Given the description of an element on the screen output the (x, y) to click on. 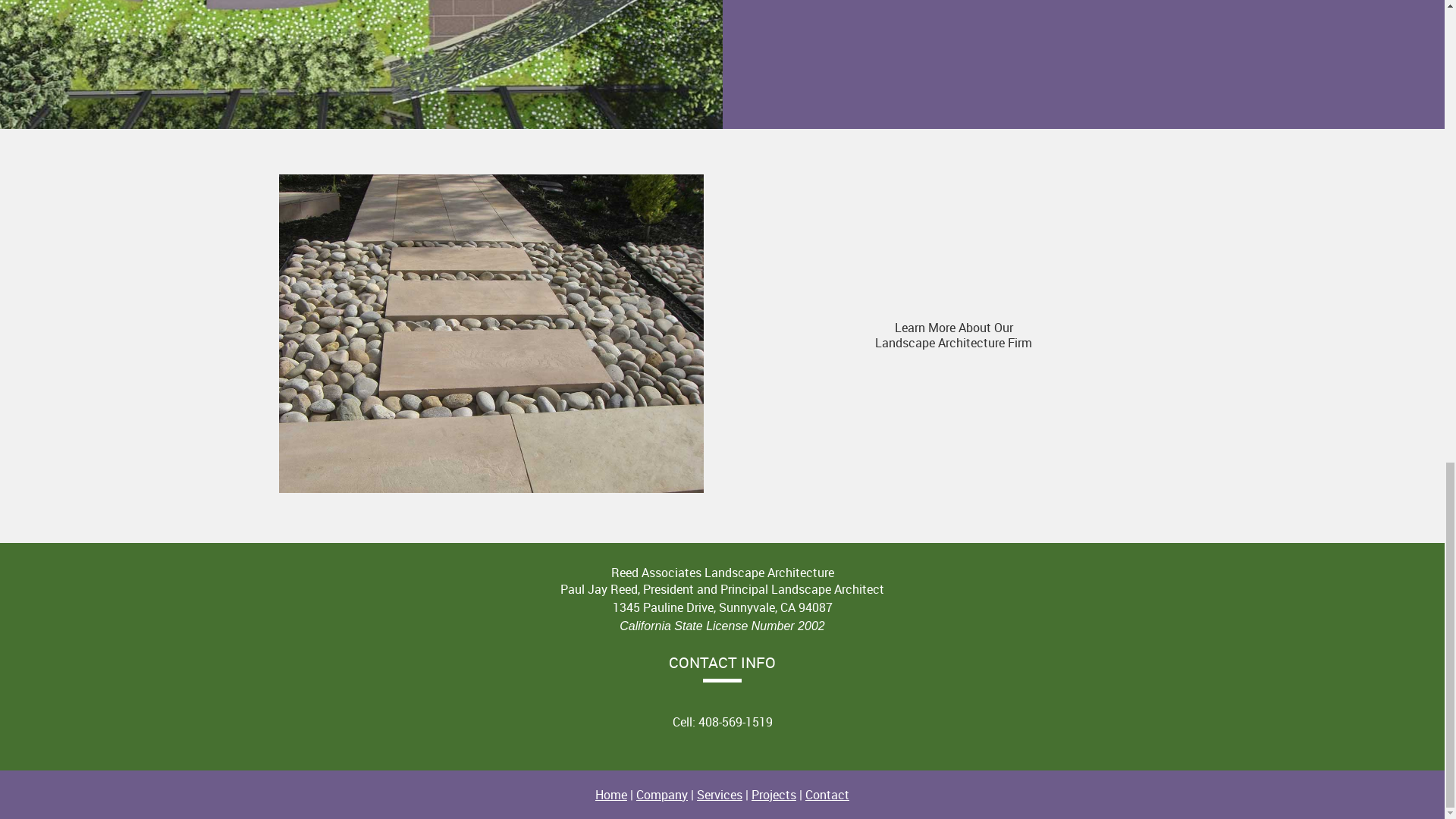
Home (611, 794)
Company (661, 794)
Services (719, 794)
Projects (773, 794)
Contact (826, 794)
Divider (722, 680)
